Given the description of an element on the screen output the (x, y) to click on. 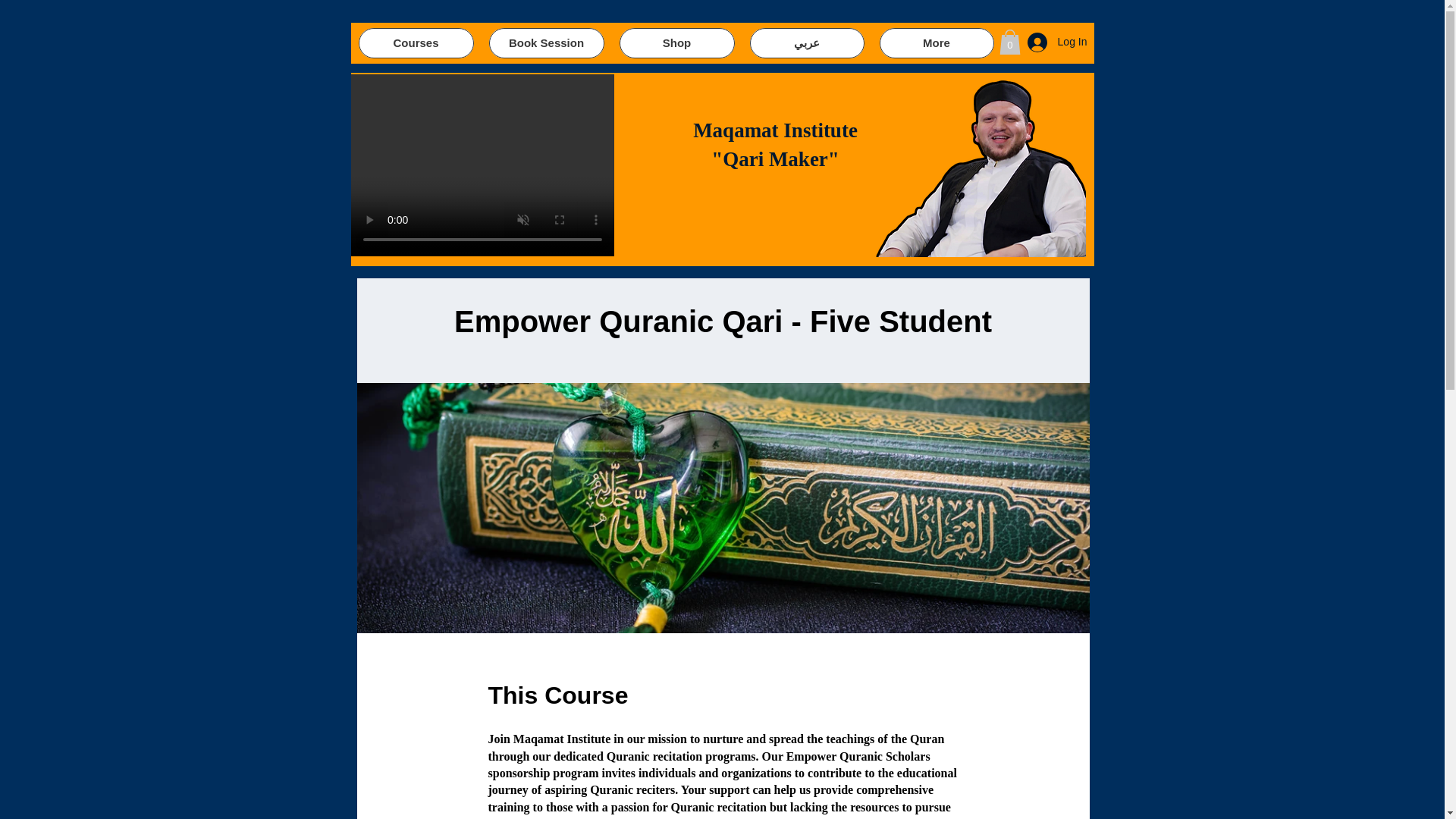
Shop (675, 42)
Log In (1056, 41)
Courses (415, 42)
he is literally your uncle.png (978, 166)
Book Session (545, 42)
